Given the description of an element on the screen output the (x, y) to click on. 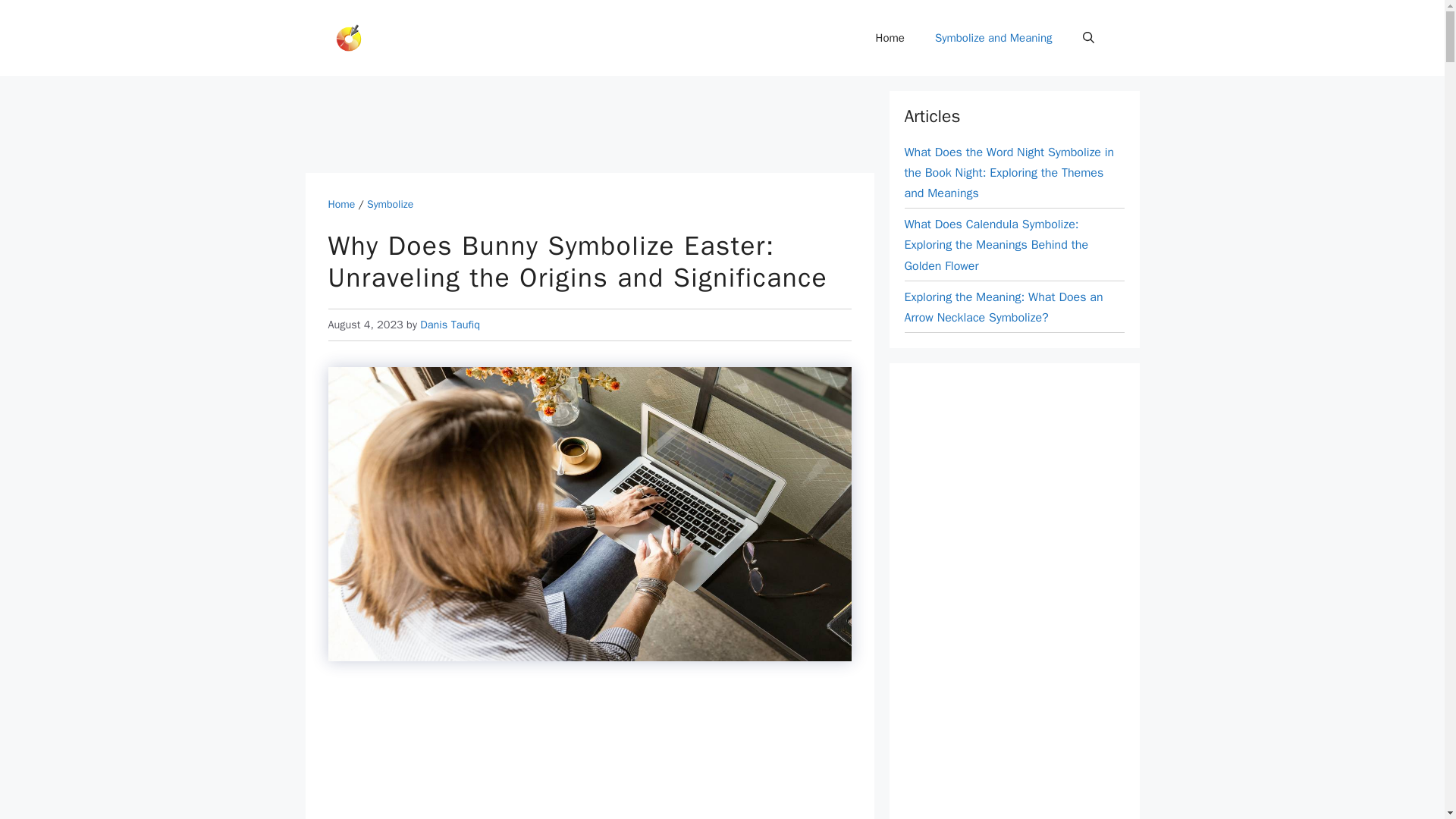
View all posts by Danis Taufiq (450, 324)
Home (890, 37)
Symbolize and Meaning (993, 37)
Advertisement (580, 124)
Home (341, 204)
Advertisement (589, 753)
Symbolize (389, 204)
Danis Taufiq (450, 324)
